Given the description of an element on the screen output the (x, y) to click on. 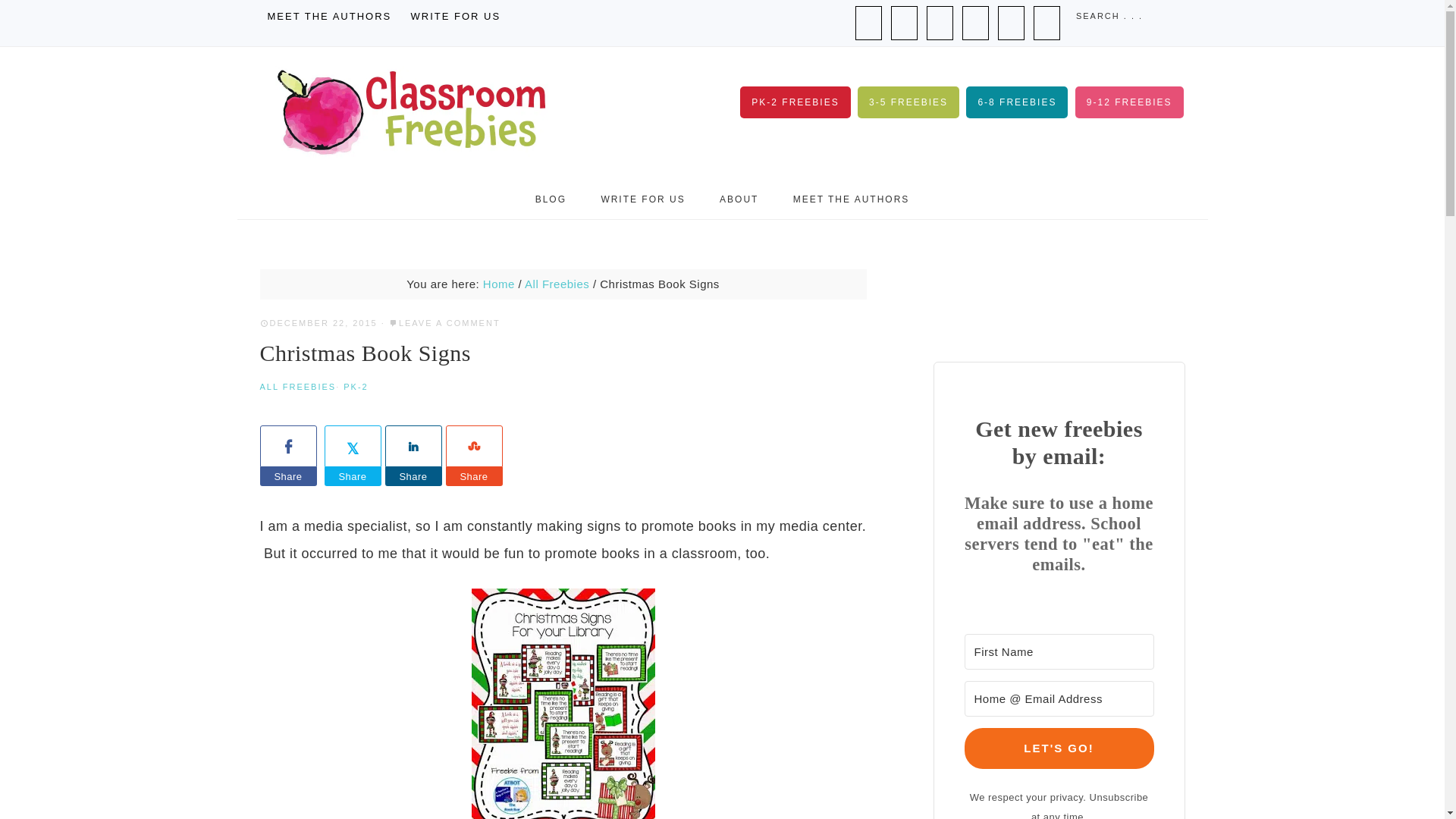
Share (413, 476)
Share (473, 476)
MEET THE AUTHORS (328, 16)
Share (352, 476)
WRITE FOR US (642, 199)
6-8 FREEBIES (1016, 101)
Home (499, 283)
LEAVE A COMMENT (449, 322)
MEET THE AUTHORS (850, 199)
All Freebies (556, 283)
